Given the description of an element on the screen output the (x, y) to click on. 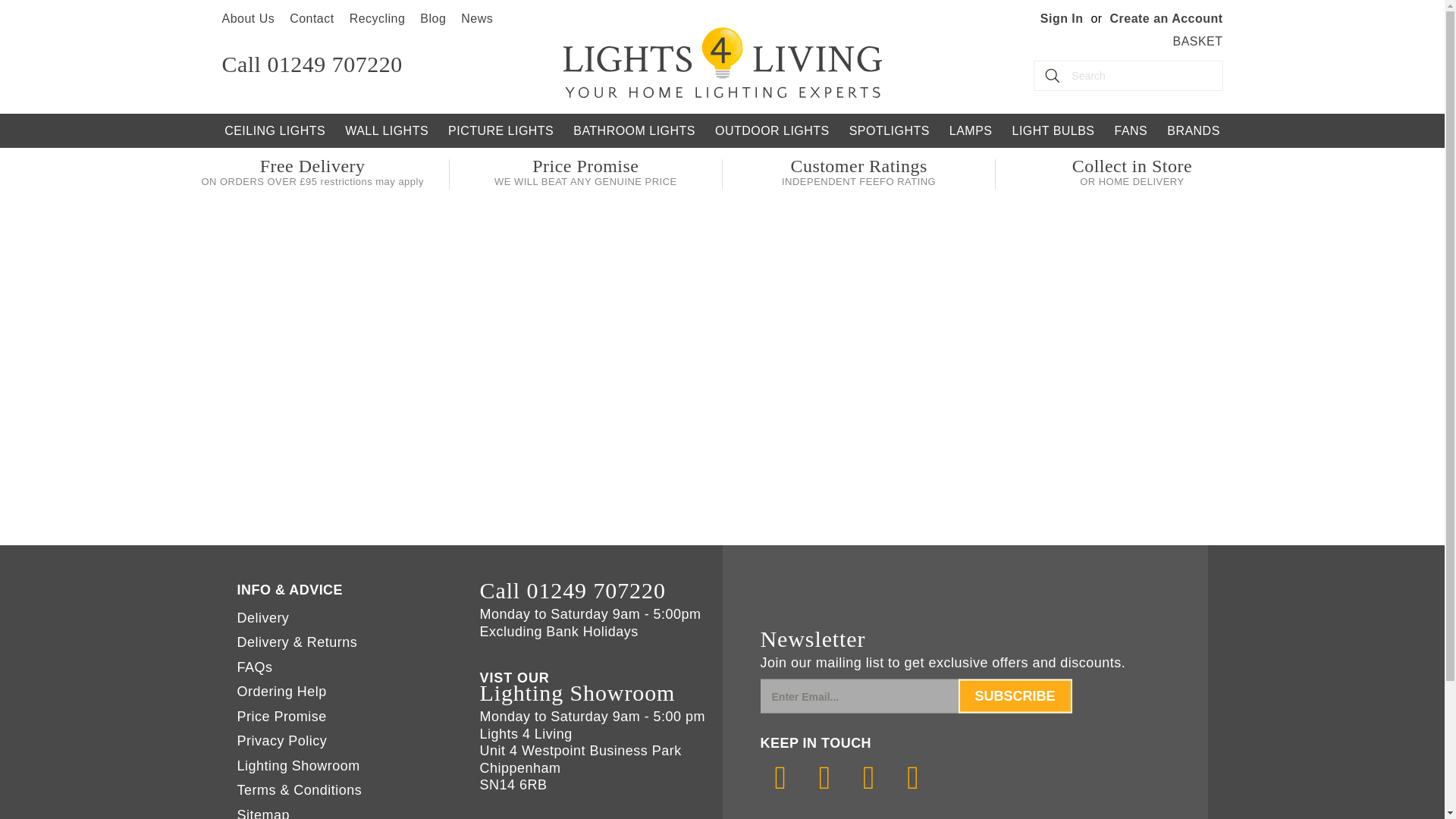
News (477, 18)
Subscribe (1014, 695)
Recycling (377, 18)
BASKET (1197, 41)
Create an Account (1166, 18)
CEILING LIGHTS (274, 130)
Call 01249 707220 (311, 63)
Search (1051, 75)
Sign In (1062, 18)
Contact (311, 18)
